Given the description of an element on the screen output the (x, y) to click on. 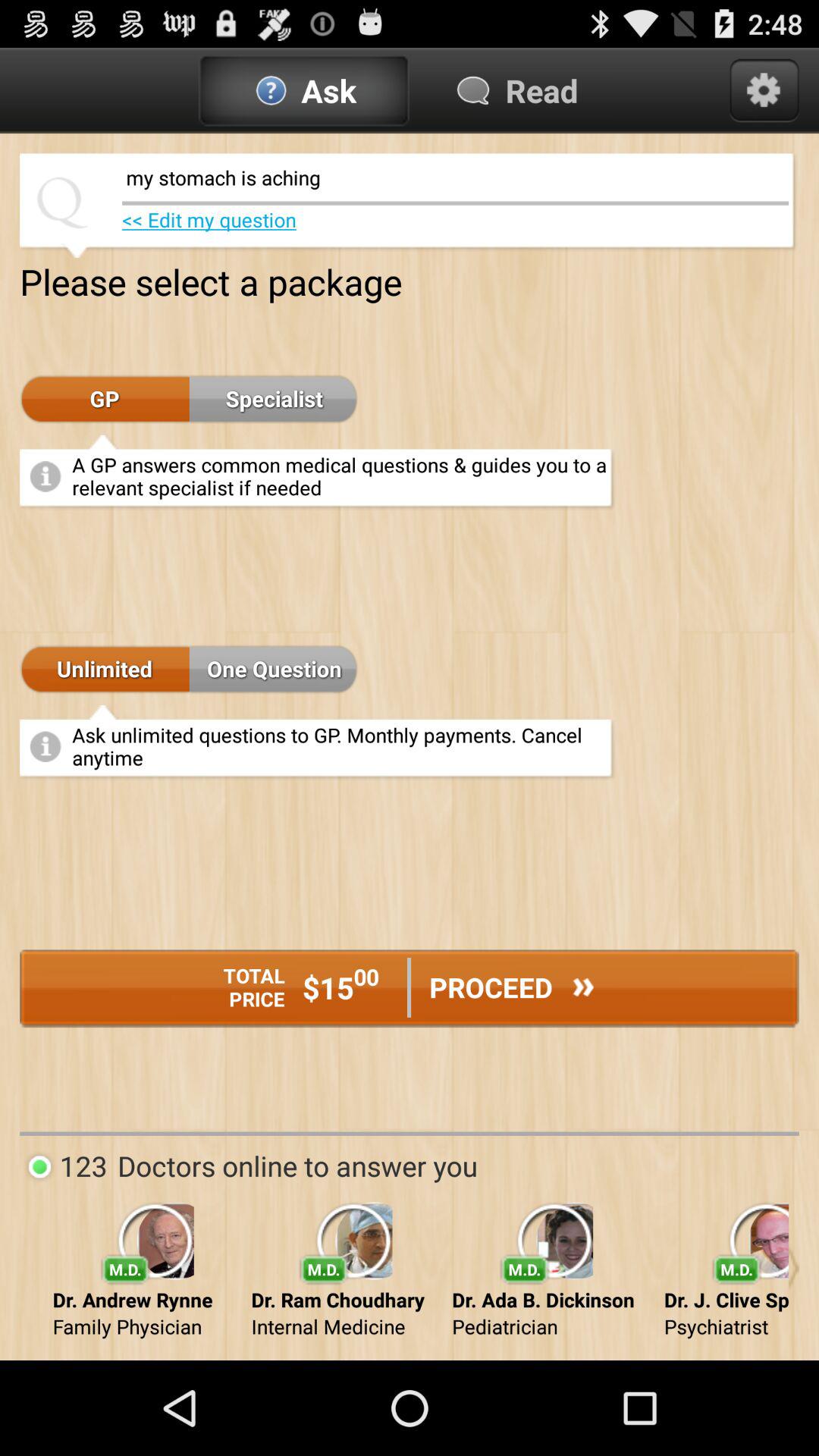
more settings (764, 90)
